Given the description of an element on the screen output the (x, y) to click on. 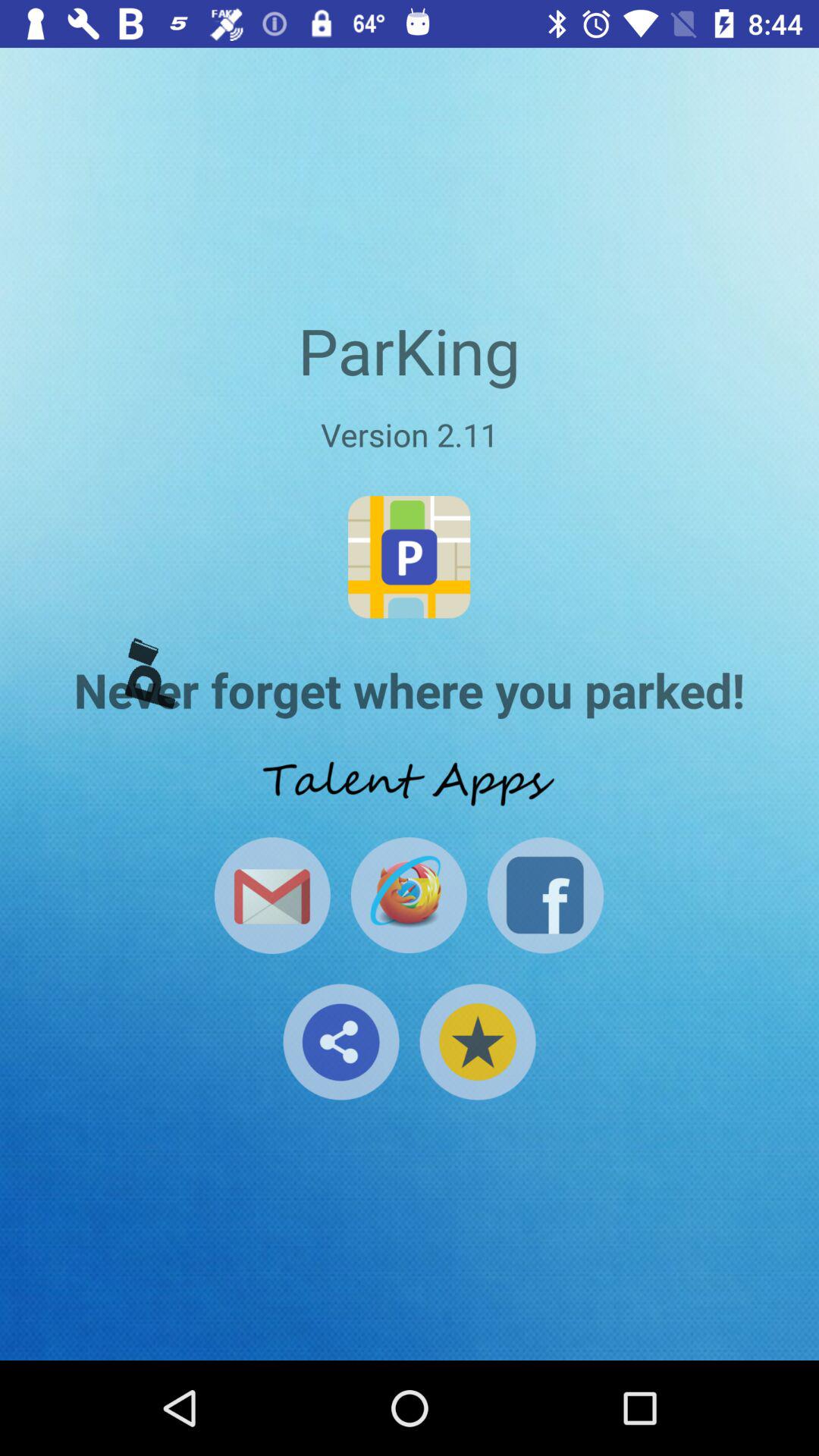
send a message (272, 895)
